Given the description of an element on the screen output the (x, y) to click on. 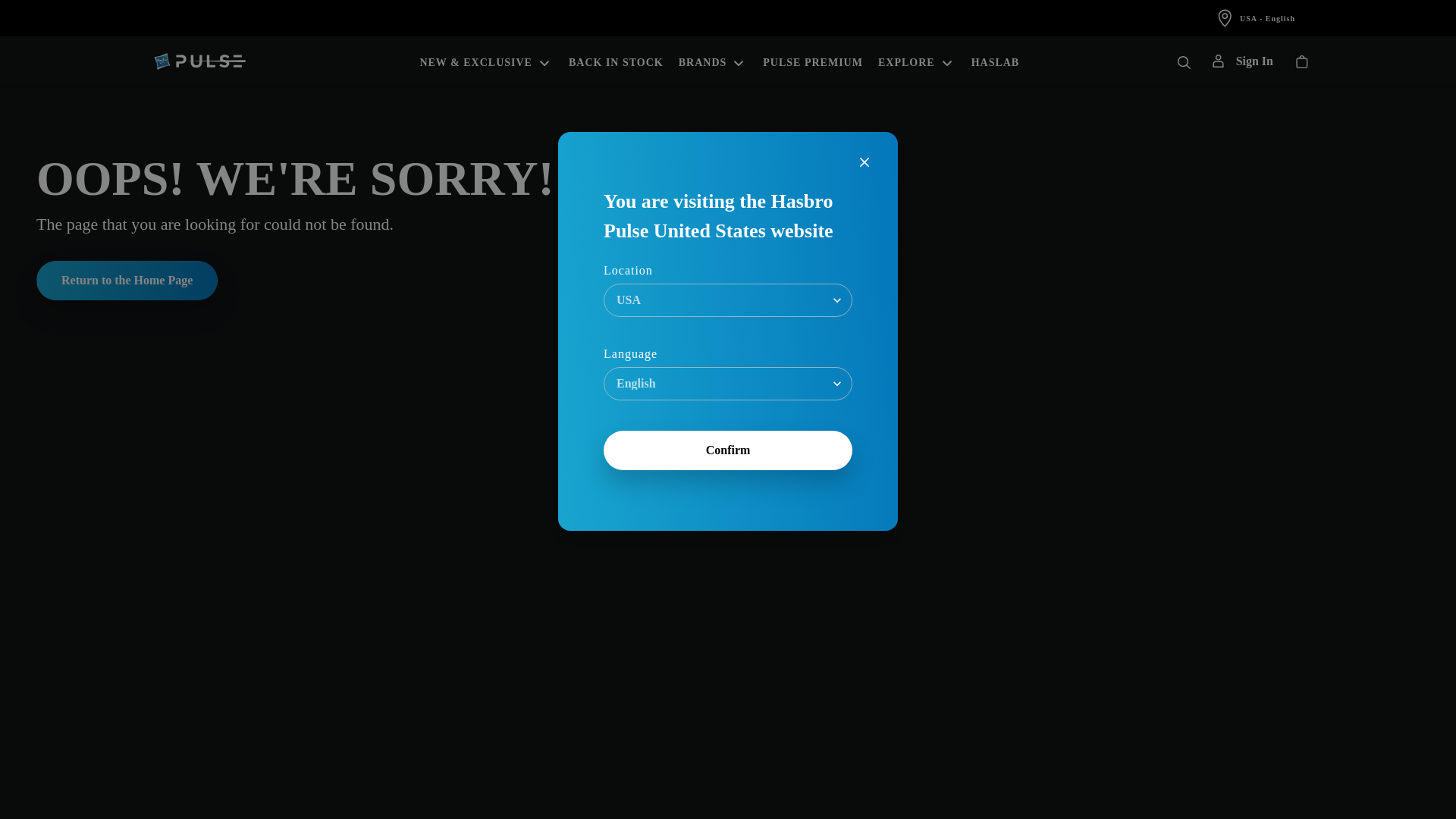
Sign In (1241, 60)
HASLAB (995, 60)
Return to the Home Page (126, 280)
PULSE PREMIUM (813, 60)
EXPLORE (917, 60)
BACK IN STOCK (616, 60)
BRANDS (713, 60)
